Given the description of an element on the screen output the (x, y) to click on. 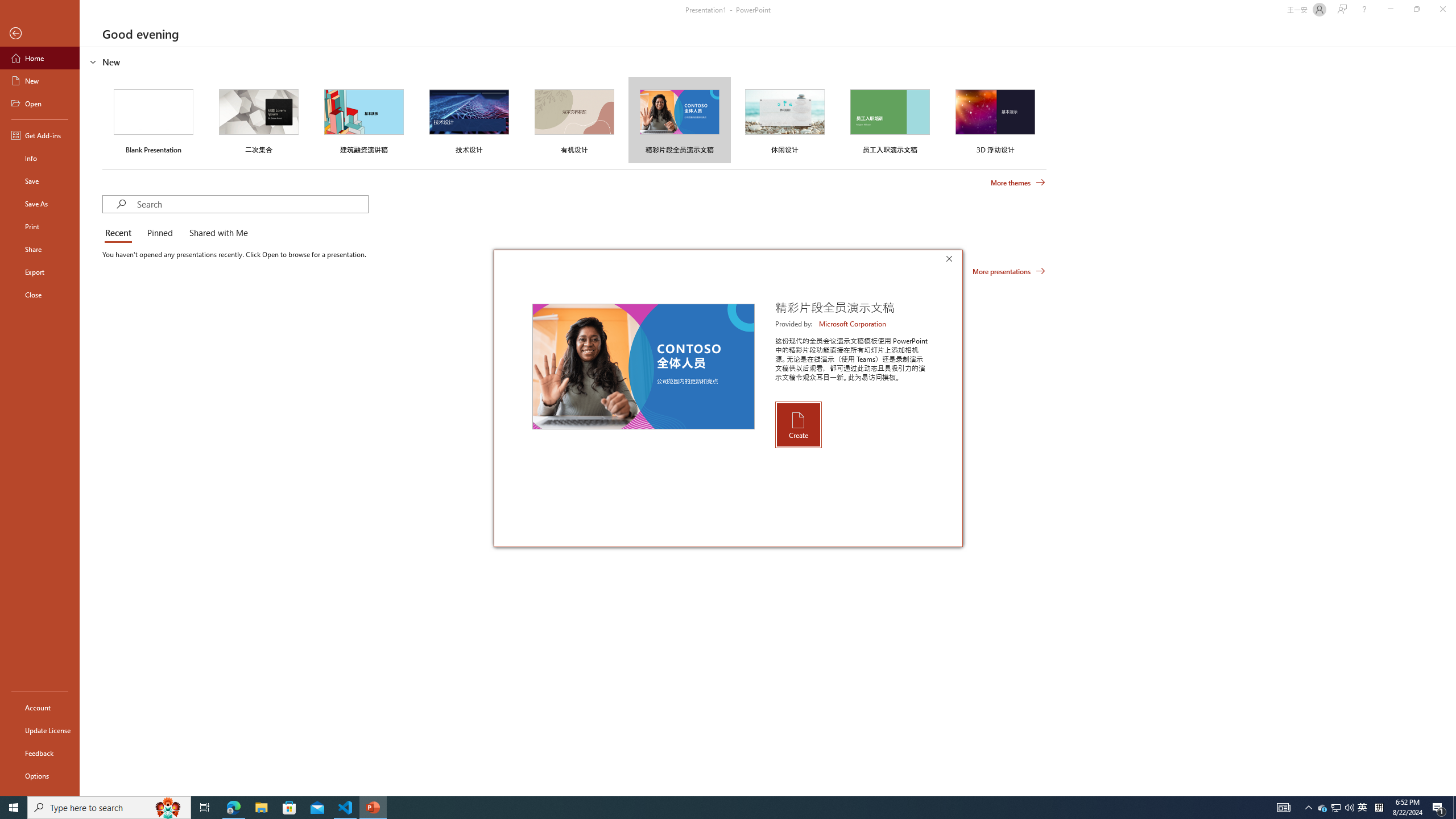
More presentations (1008, 270)
Blank Presentation (153, 119)
